Given the description of an element on the screen output the (x, y) to click on. 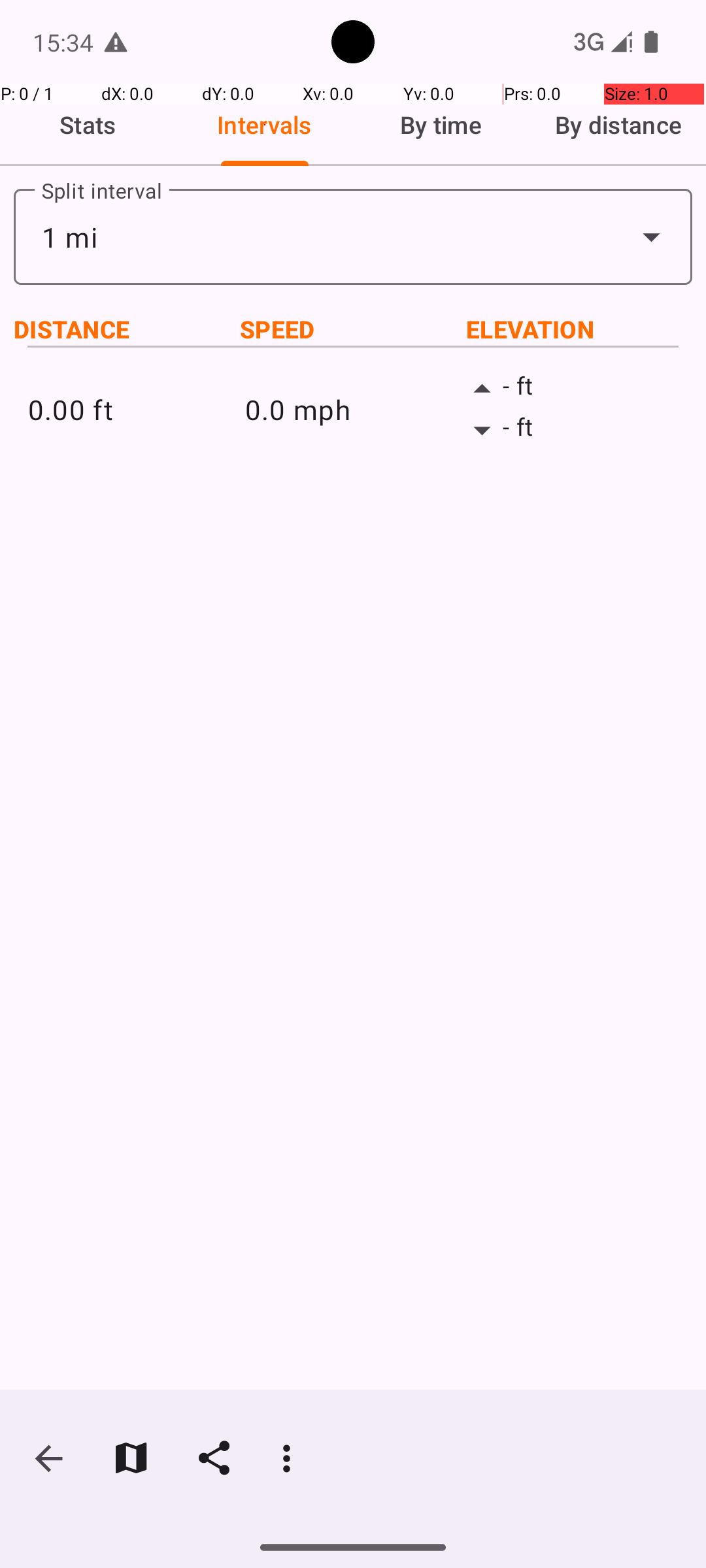
1 mi Element type: android.widget.Spinner (352, 236)
SPEED Element type: android.widget.TextView (352, 328)
ELEVATION Element type: android.widget.TextView (579, 328)
0.00 ft Element type: android.widget.TextView (135, 408)
0.0 mph Element type: android.widget.TextView (352, 408)
- ft Element type: android.widget.TextView (569, 388)
